Given the description of an element on the screen output the (x, y) to click on. 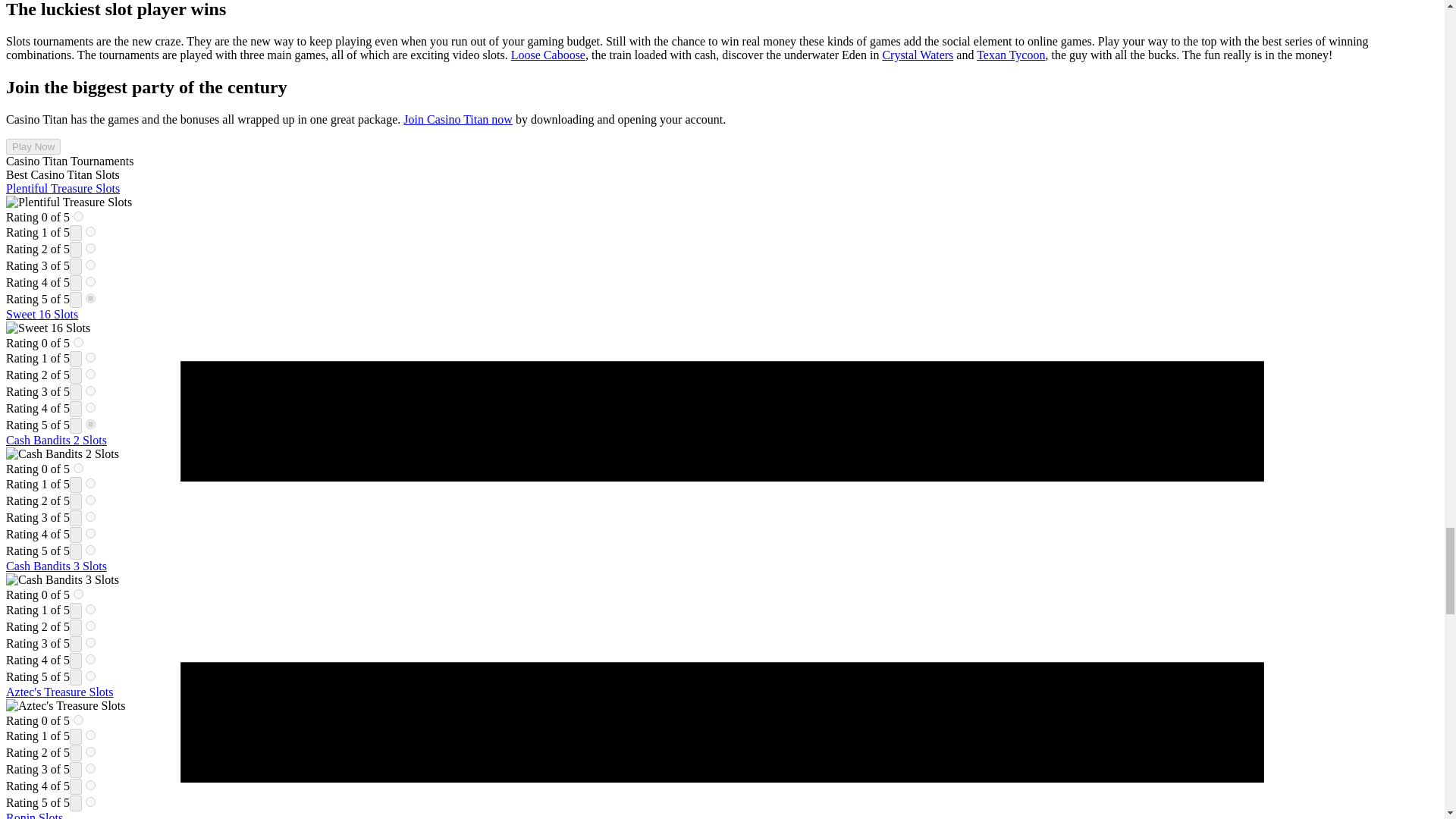
Join Casino Titan now (457, 119)
Plentiful Treasure Slots (62, 187)
Sweet 16 Slots (41, 314)
2 (90, 500)
1 (90, 609)
Texan Tycoon (1010, 54)
1 (90, 231)
2 (90, 374)
3 (90, 265)
2 (90, 248)
4 (90, 281)
0 (78, 342)
0 (78, 216)
Play Now (33, 146)
3 (90, 516)
